Given the description of an element on the screen output the (x, y) to click on. 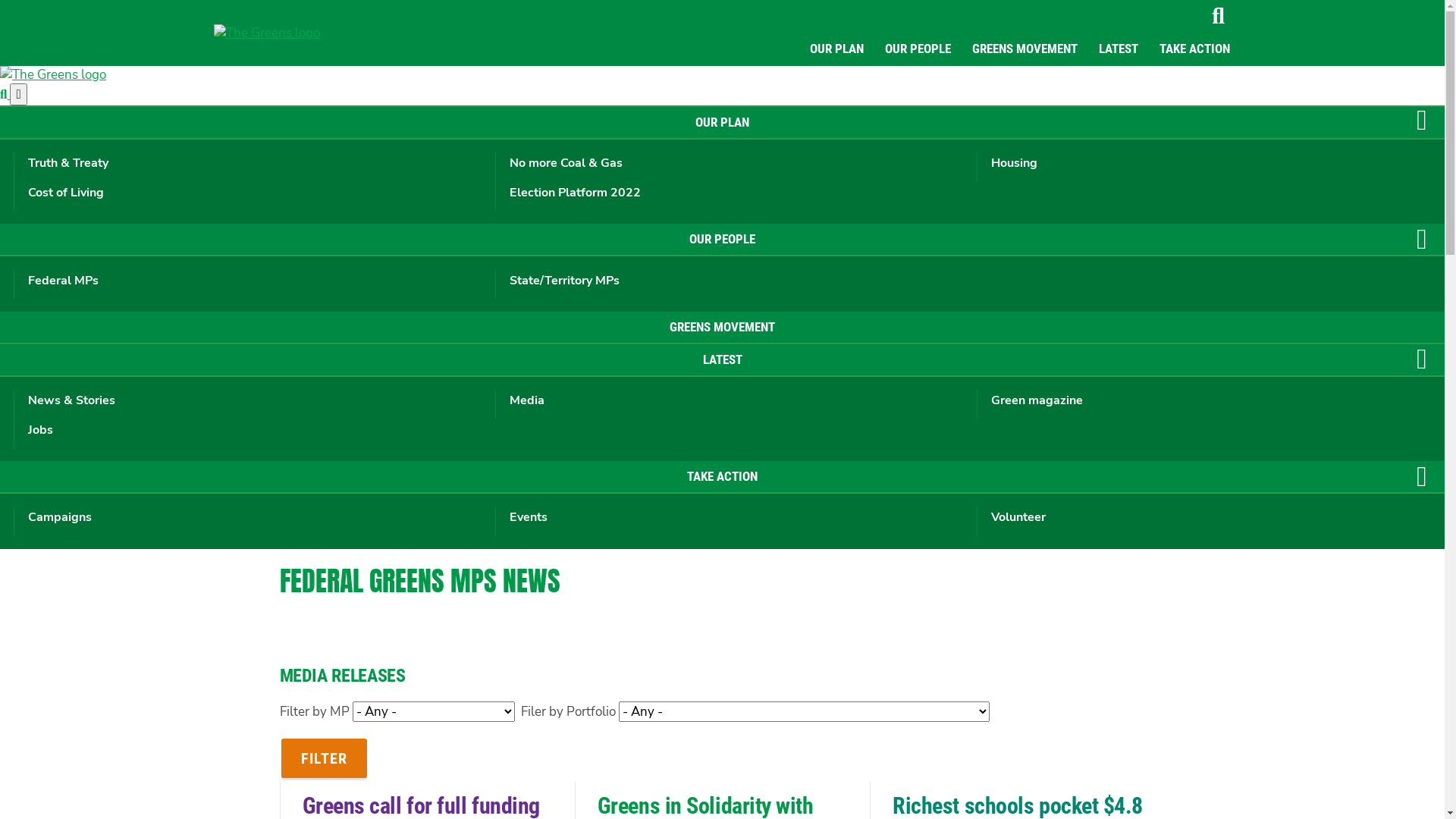
Events Element type: text (731, 517)
OUR PLAN Element type: text (722, 122)
Media Element type: text (731, 400)
OUR PLAN Element type: text (836, 48)
Toggle Element type: text (1421, 477)
Jobs Element type: text (250, 430)
LATEST Element type: text (722, 360)
Search Element type: text (1217, 15)
OUR PEOPLE Element type: text (722, 239)
No more Coal & Gas Element type: text (731, 163)
Housing Element type: text (1213, 163)
Green magazine Element type: text (1213, 400)
Campaigns Element type: text (250, 517)
LATEST Element type: text (1117, 48)
Truth & Treaty Element type: text (250, 163)
Toggle Element type: text (1421, 239)
GREENS MOVEMENT Element type: text (722, 327)
Toggle Element type: text (1421, 122)
GREENS MOVEMENT Element type: text (1024, 48)
OUR PEOPLE Element type: text (916, 48)
Election Platform 2022 Element type: text (731, 193)
State/Territory MPs Element type: text (731, 280)
Cost of Living Element type: text (250, 193)
Volunteer Element type: text (1213, 517)
Toggle Element type: text (1421, 360)
Filter Element type: text (323, 758)
Search Element type: text (4, 94)
Federal MPs Element type: text (250, 280)
TAKE ACTION Element type: text (1193, 48)
News & Stories Element type: text (250, 400)
Skip to main content Element type: text (0, 0)
TAKE ACTION Element type: text (722, 477)
